Given the description of an element on the screen output the (x, y) to click on. 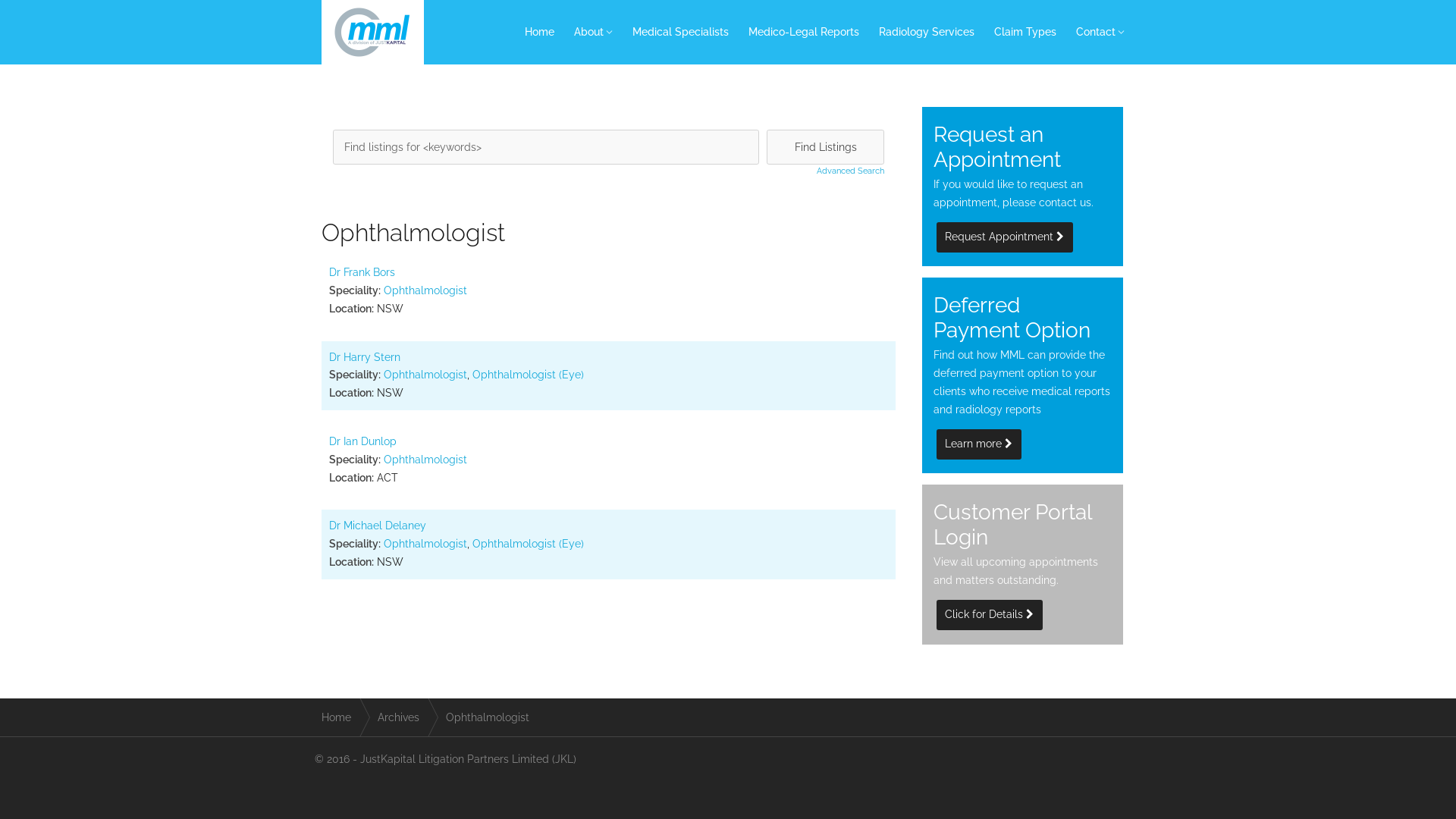
Medico-Legal Reports Element type: text (803, 32)
Home Element type: text (539, 32)
Ophthalmologist (Eye) Element type: text (527, 374)
Dr Frank Bors Element type: text (362, 272)
Ophthalmologist Element type: text (425, 374)
Home Element type: text (339, 717)
About Element type: text (593, 32)
Quick search keywords Element type: hover (545, 146)
Medical Specialists Element type: text (680, 32)
Request Appointment Element type: text (1004, 237)
Dr Ian Dunlop Element type: text (362, 441)
Advanced Search Element type: text (825, 171)
Radiology Services Element type: text (926, 32)
Dr Michael Delaney Element type: text (377, 525)
Dr Harry Stern Element type: text (364, 357)
Click for Details Element type: text (989, 614)
Ophthalmologist Element type: text (425, 290)
Ophthalmologist Element type: text (425, 459)
Contact Element type: text (1100, 32)
Find Listings Element type: text (825, 146)
Claim Types Element type: text (1025, 32)
Ophthalmologist (Eye) Element type: text (527, 543)
Learn more Element type: text (978, 444)
Ophthalmologist Element type: text (425, 543)
